Given the description of an element on the screen output the (x, y) to click on. 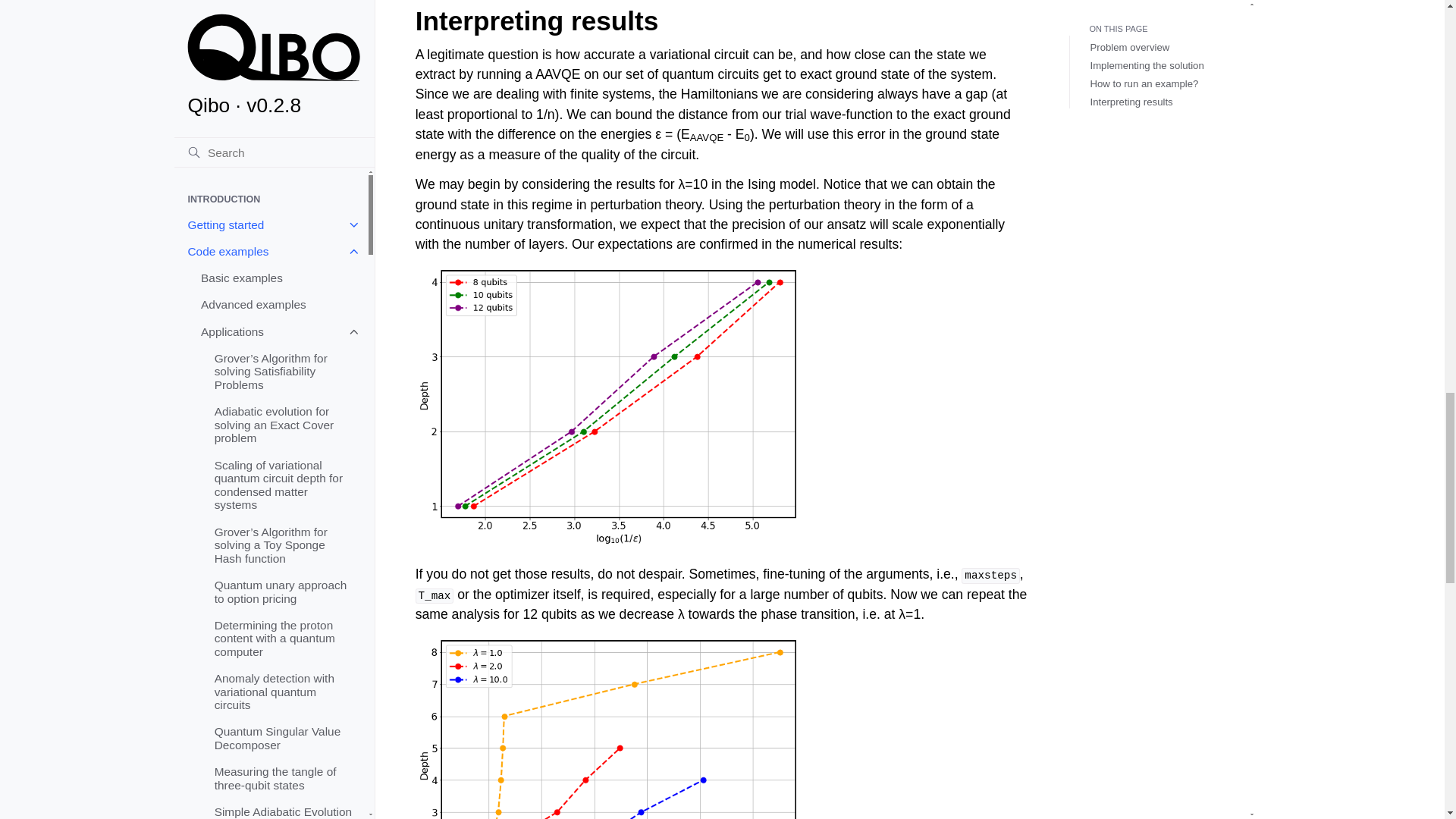
Data reuploading for a universal quantum classifier (283, 20)
